Given the description of an element on the screen output the (x, y) to click on. 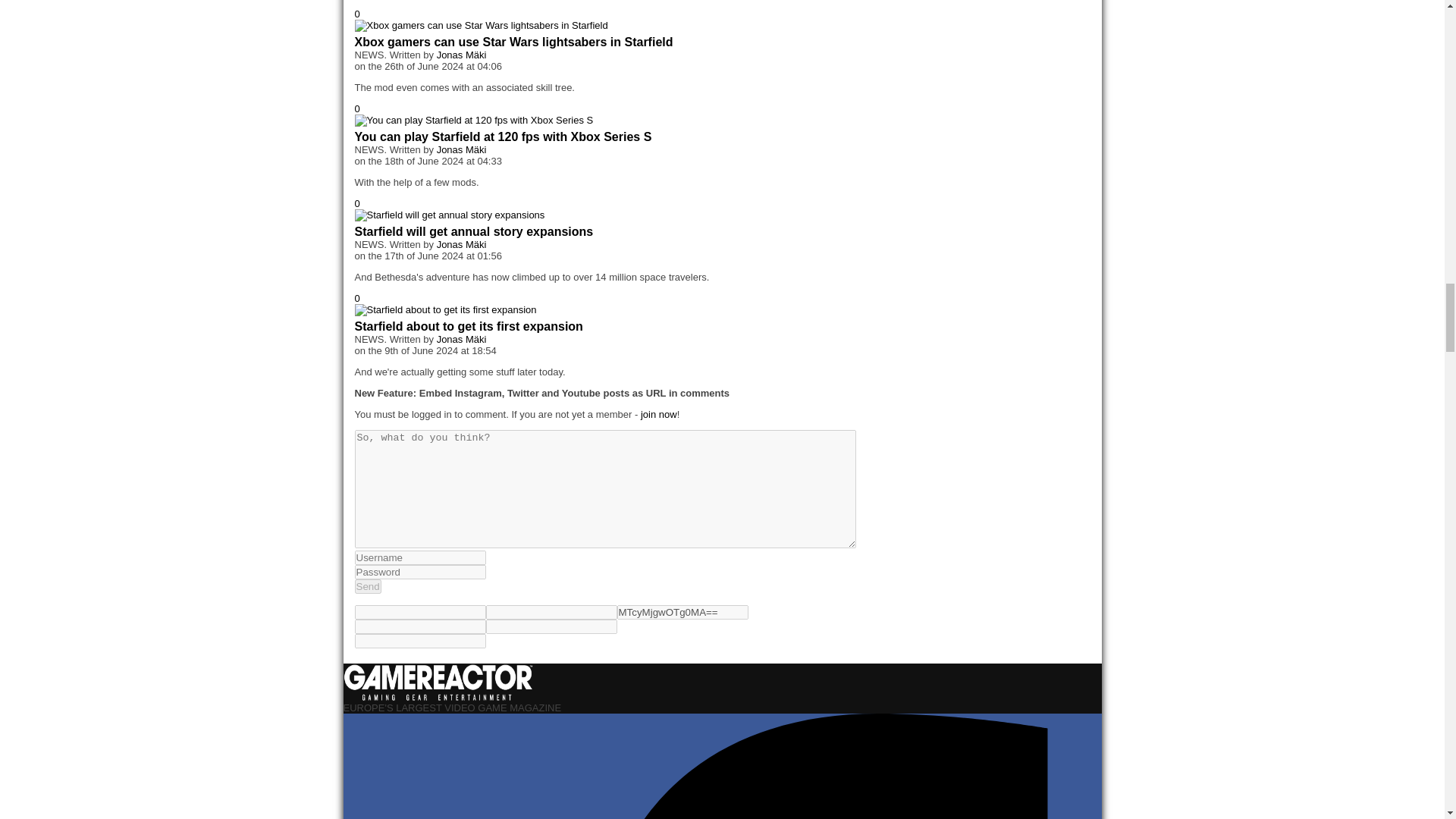
Send (368, 586)
